Given the description of an element on the screen output the (x, y) to click on. 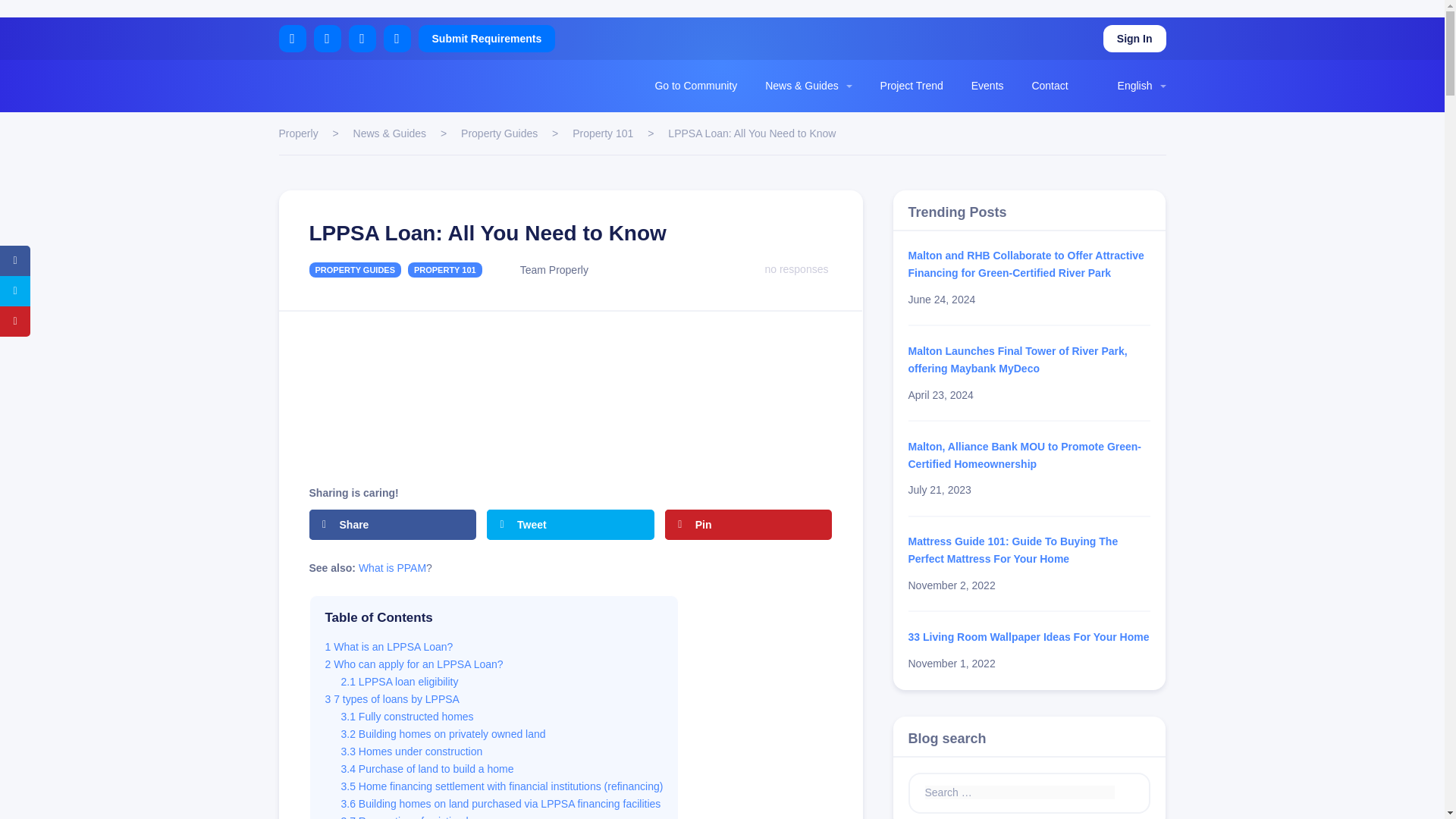
English (1124, 85)
Submit Requirements (487, 38)
Go to the Property Guides category archives. (499, 133)
Sign In (1134, 38)
Contact (1048, 85)
Project Trend (911, 85)
Go to Community (694, 85)
